Given the description of an element on the screen output the (x, y) to click on. 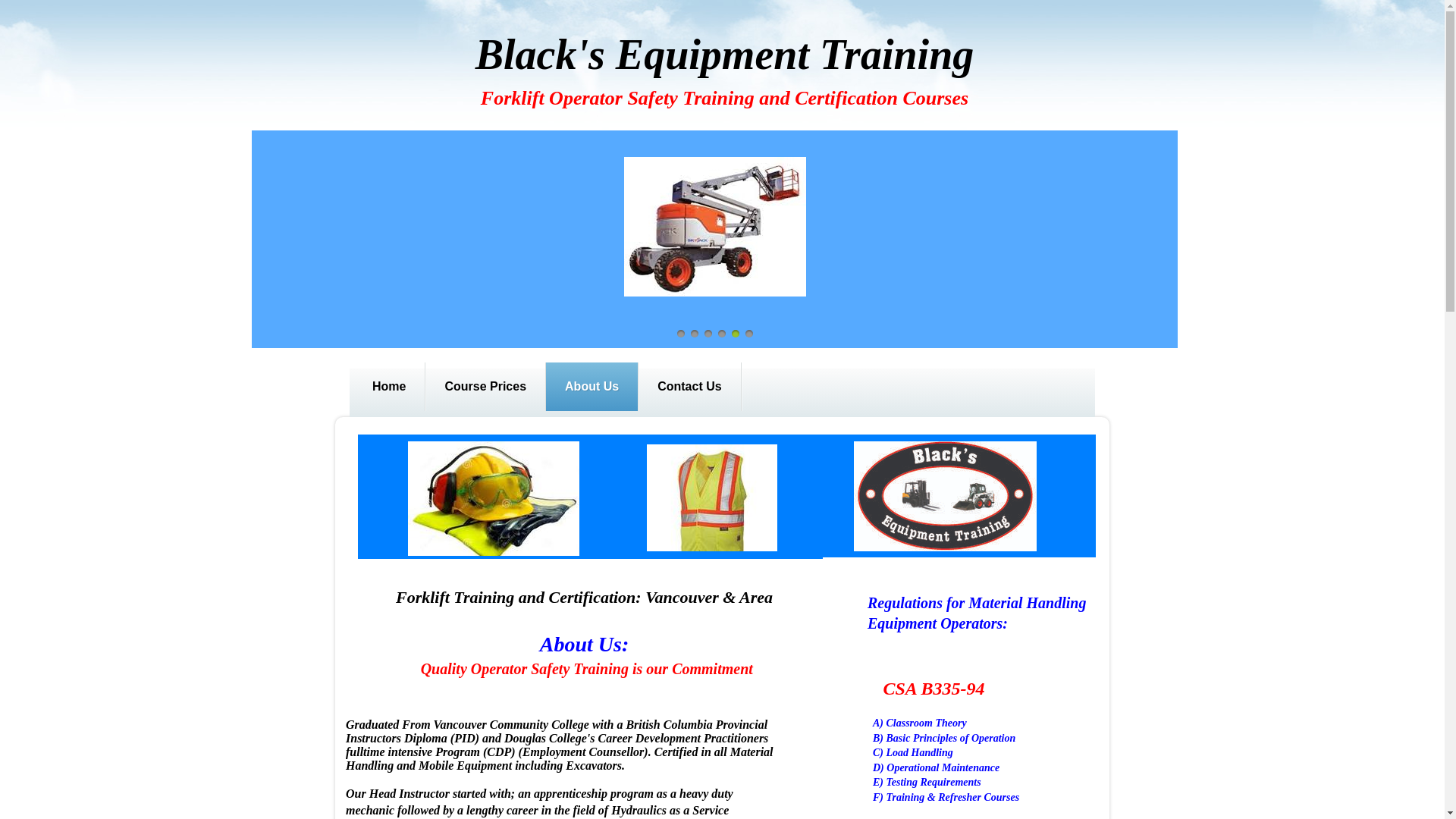
Home Element type: text (388, 385)
Contact Us Element type: text (689, 385)
Course Prices Element type: text (485, 385)
About Us Element type: text (591, 385)
